Given the description of an element on the screen output the (x, y) to click on. 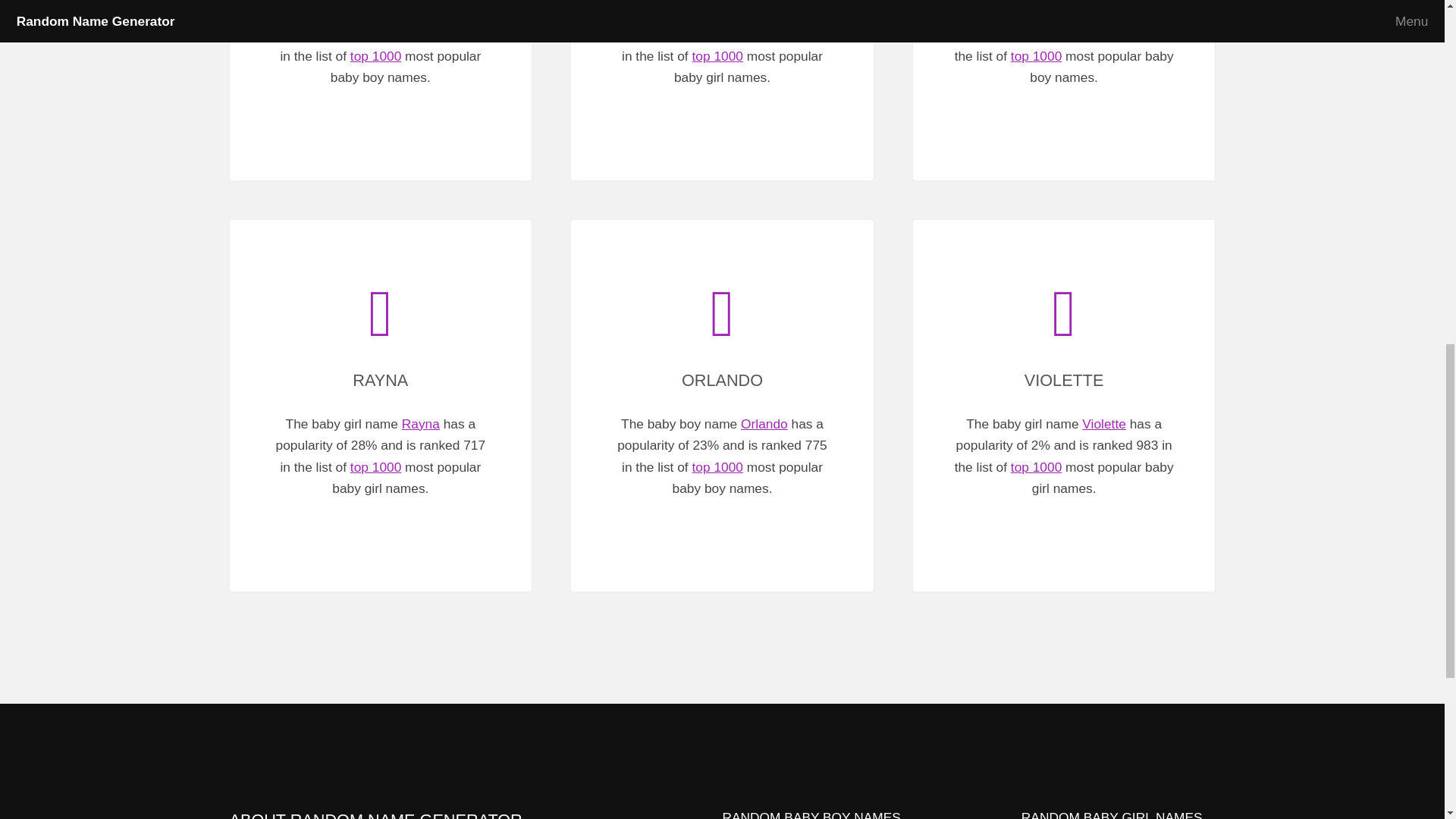
top 1000 (716, 55)
Milan (422, 11)
Kolson (1105, 11)
Orlando (764, 423)
Abby (761, 11)
top 1000 (1035, 55)
Violette (1103, 423)
Rayna (420, 423)
top 1000 (1035, 467)
top 1000 (375, 55)
top 1000 (716, 467)
top 1000 (375, 467)
